Given the description of an element on the screen output the (x, y) to click on. 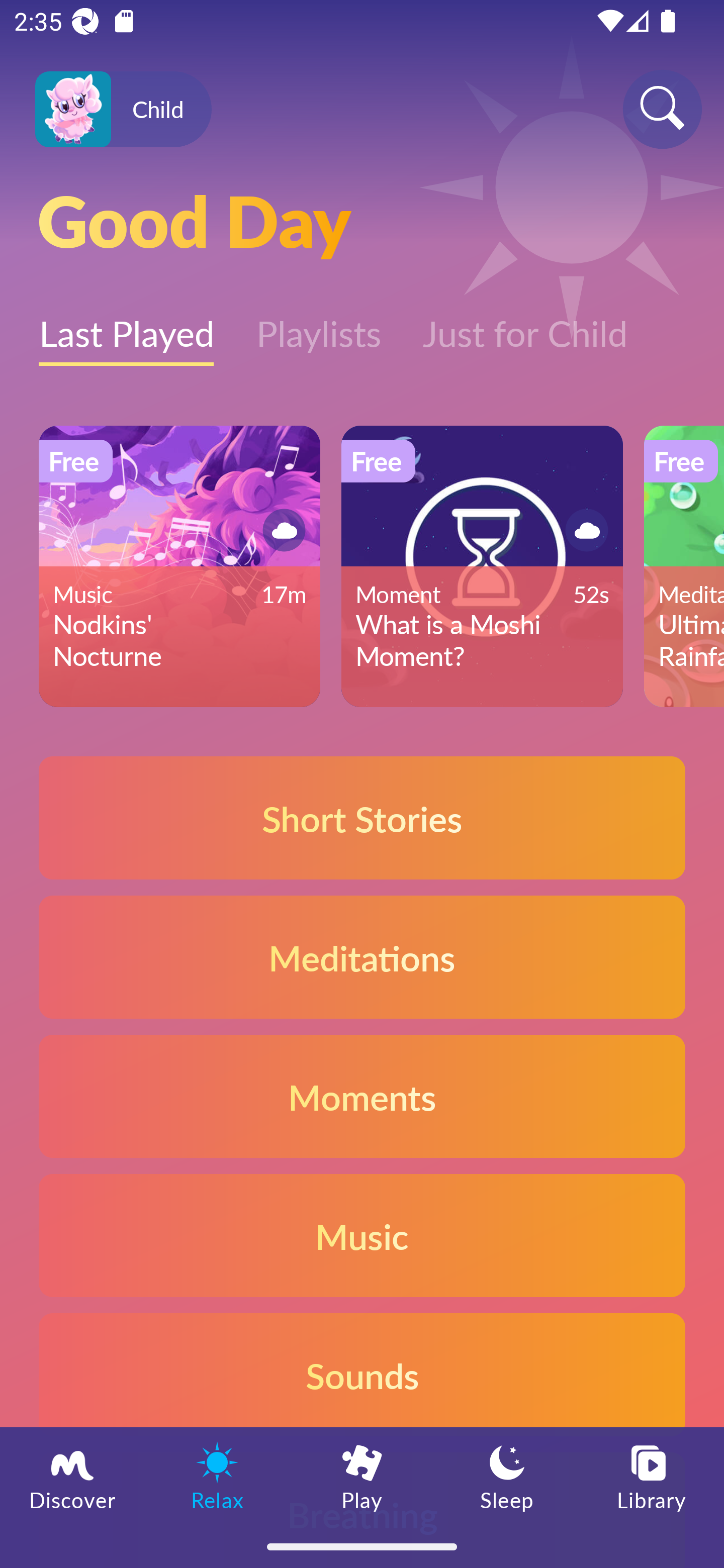
Profile icon Child (123, 109)
Playlists (317, 322)
Just for Child (524, 322)
Button (280, 529)
Button (583, 529)
Short Stories (361, 817)
Meditations (361, 957)
Moments (361, 1096)
Music (361, 1234)
Sounds (361, 1374)
Discover (72, 1475)
Play (361, 1475)
Sleep (506, 1475)
Library (651, 1475)
